Given the description of an element on the screen output the (x, y) to click on. 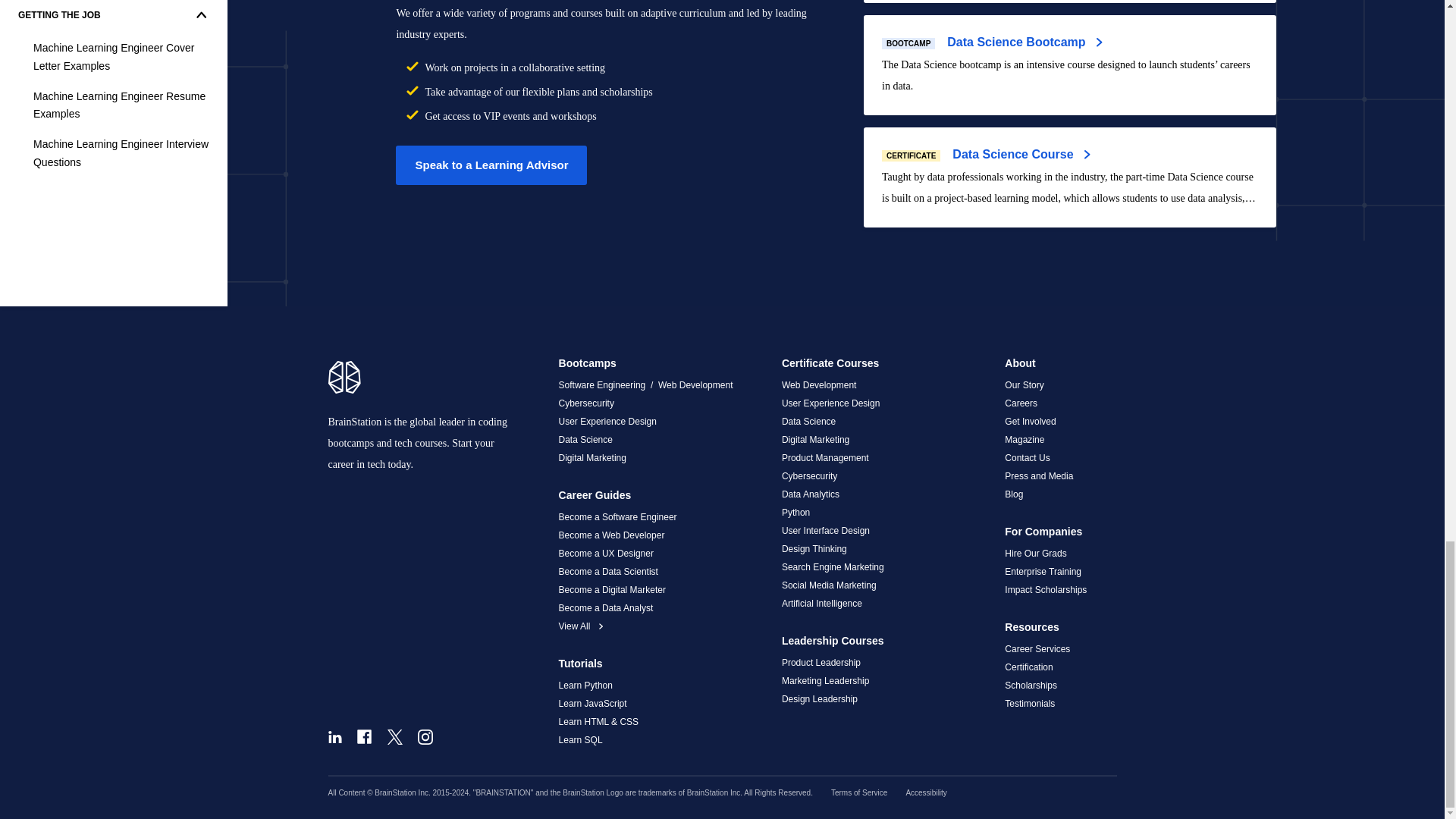
BrainStation LinkedIn (333, 736)
BrainStation Facebook (363, 736)
BrainStation X (394, 735)
BrainStation Instagram (424, 735)
